Given the description of an element on the screen output the (x, y) to click on. 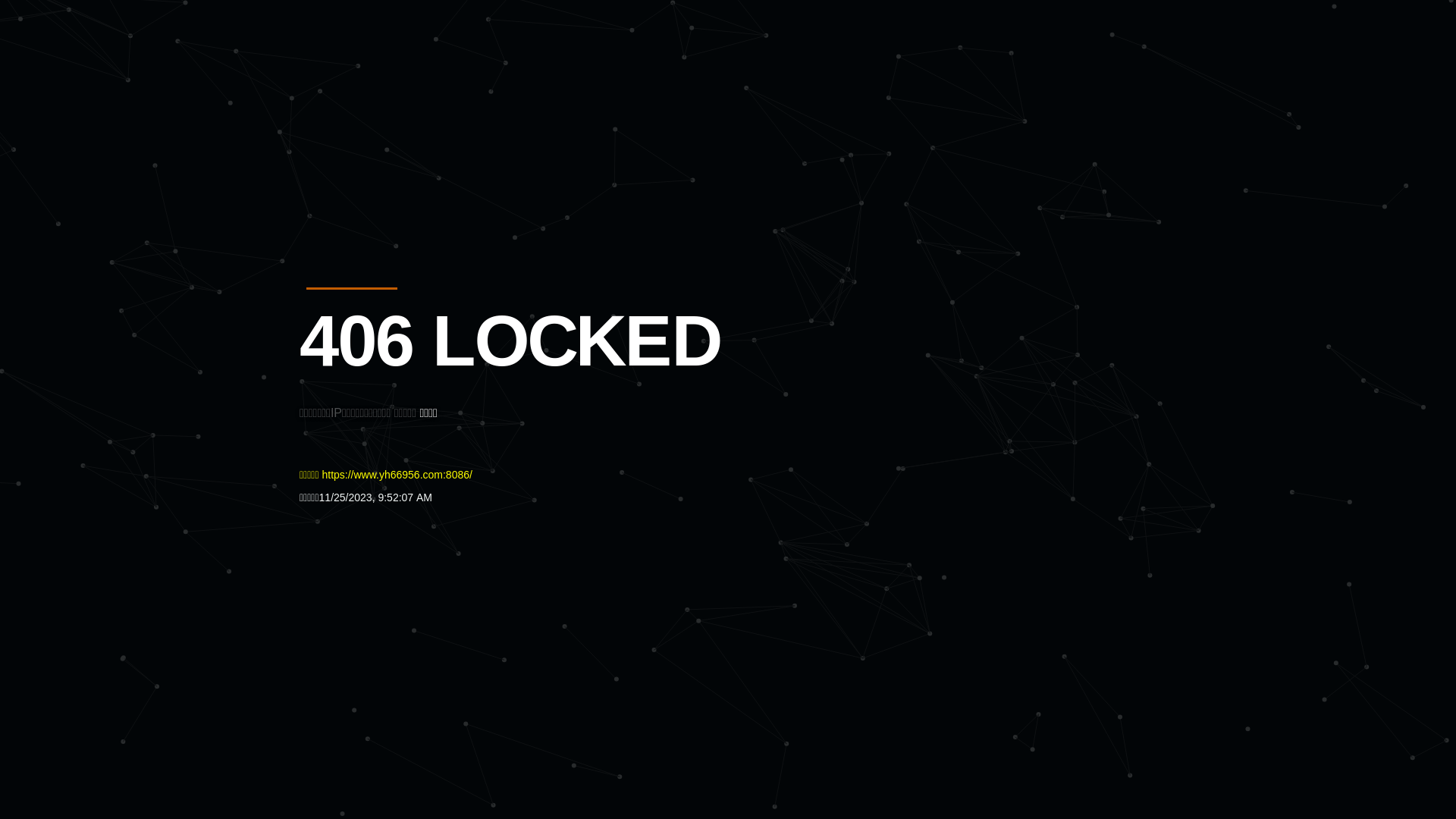
Quatro Element type: text (410, 86)
